Given the description of an element on the screen output the (x, y) to click on. 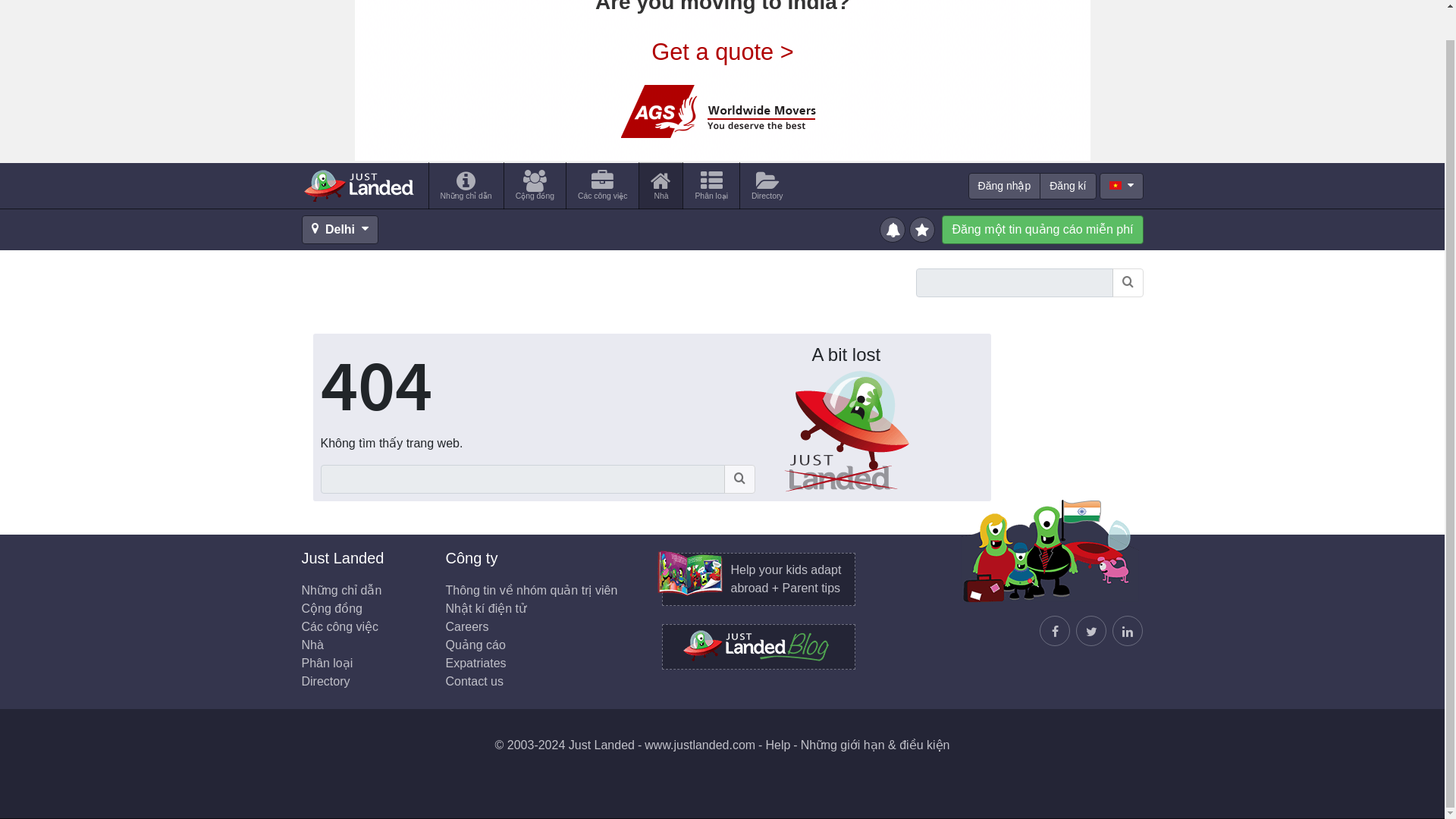
Alerts (893, 228)
Just Landed (357, 185)
Directory trong   Delhi (766, 185)
Expatriates (475, 662)
Careers (467, 626)
Delhi (339, 229)
Vietnamese (1114, 184)
Change location (339, 229)
Directory (766, 185)
Directory (325, 680)
Just Landed (357, 185)
3rd party ad content (722, 80)
